Given the description of an element on the screen output the (x, y) to click on. 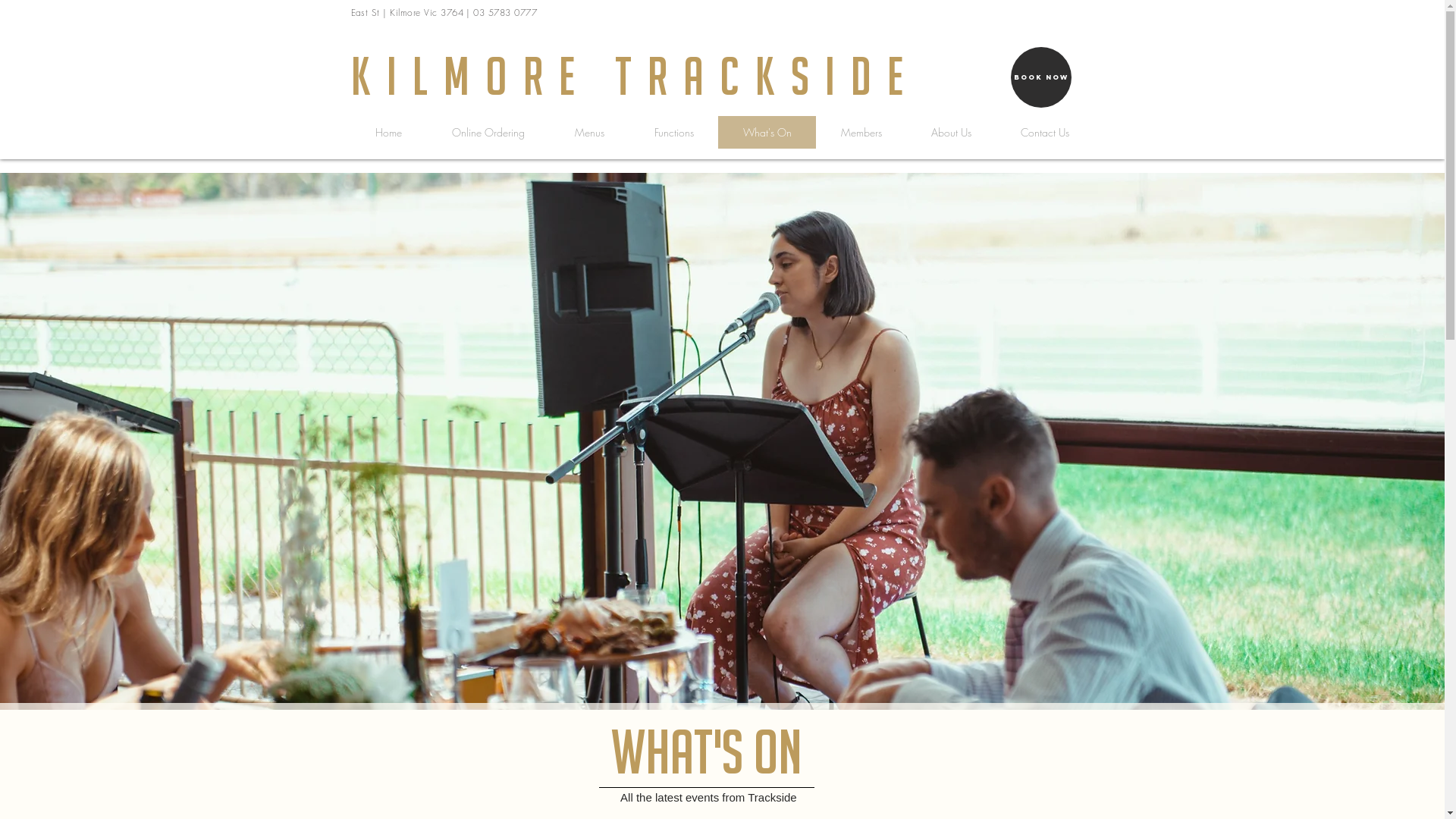
BOOK NOW Element type: text (1040, 77)
What's On Element type: text (766, 132)
Online Ordering Element type: text (487, 132)
Home Element type: text (388, 132)
KILMORE TRACKSIDE Element type: text (634, 75)
Menus Element type: text (588, 132)
Functions Element type: text (673, 132)
Contact Us Element type: text (1043, 132)
About Us Element type: text (949, 132)
Members Element type: text (860, 132)
